Given the description of an element on the screen output the (x, y) to click on. 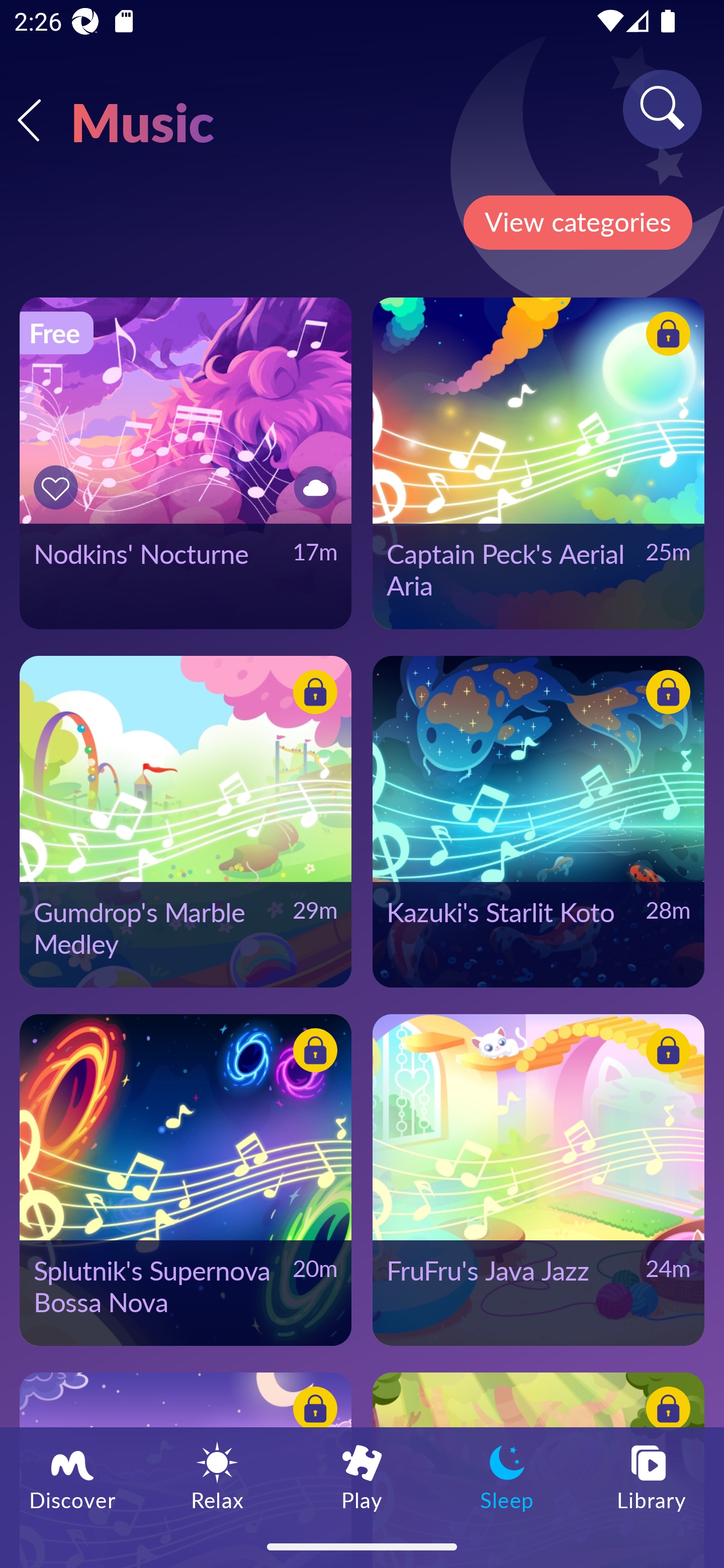
View categories (577, 222)
Button (665, 336)
Button (58, 487)
Button (311, 487)
Button (311, 694)
Featured Content Button Kazuki's Starlit Koto 28m (538, 821)
Button (665, 694)
Button (311, 1053)
Featured Content Button FruFru's Java Jazz 24m (538, 1179)
Button (665, 1053)
Button (311, 1411)
Button (665, 1411)
Discover (72, 1475)
Relax (216, 1475)
Play (361, 1475)
Library (651, 1475)
